Given the description of an element on the screen output the (x, y) to click on. 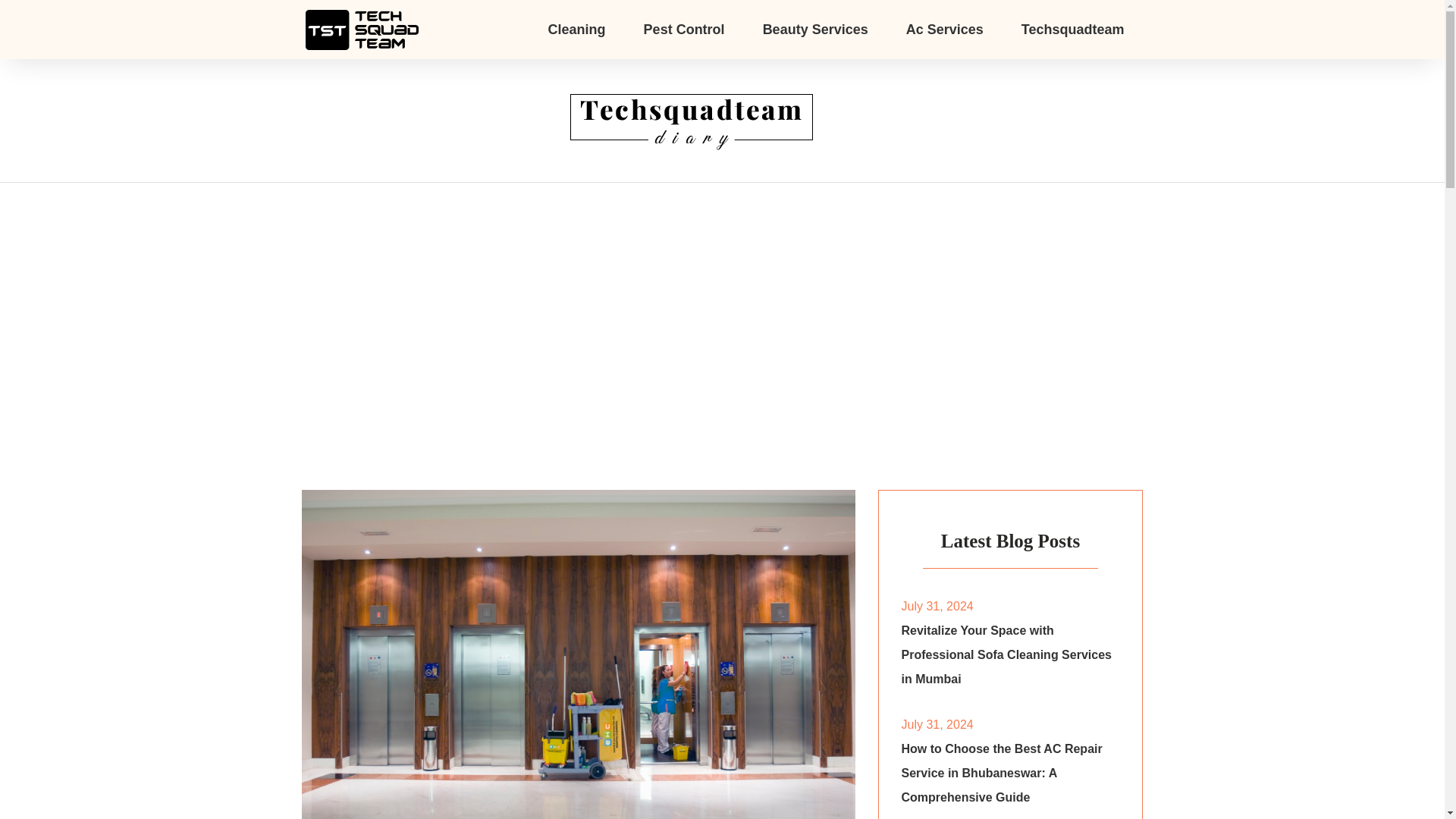
Cleaning (576, 29)
Pest Control (684, 29)
Beauty Services (815, 29)
Techsquadteam (1072, 29)
Ac Services (944, 29)
